Given the description of an element on the screen output the (x, y) to click on. 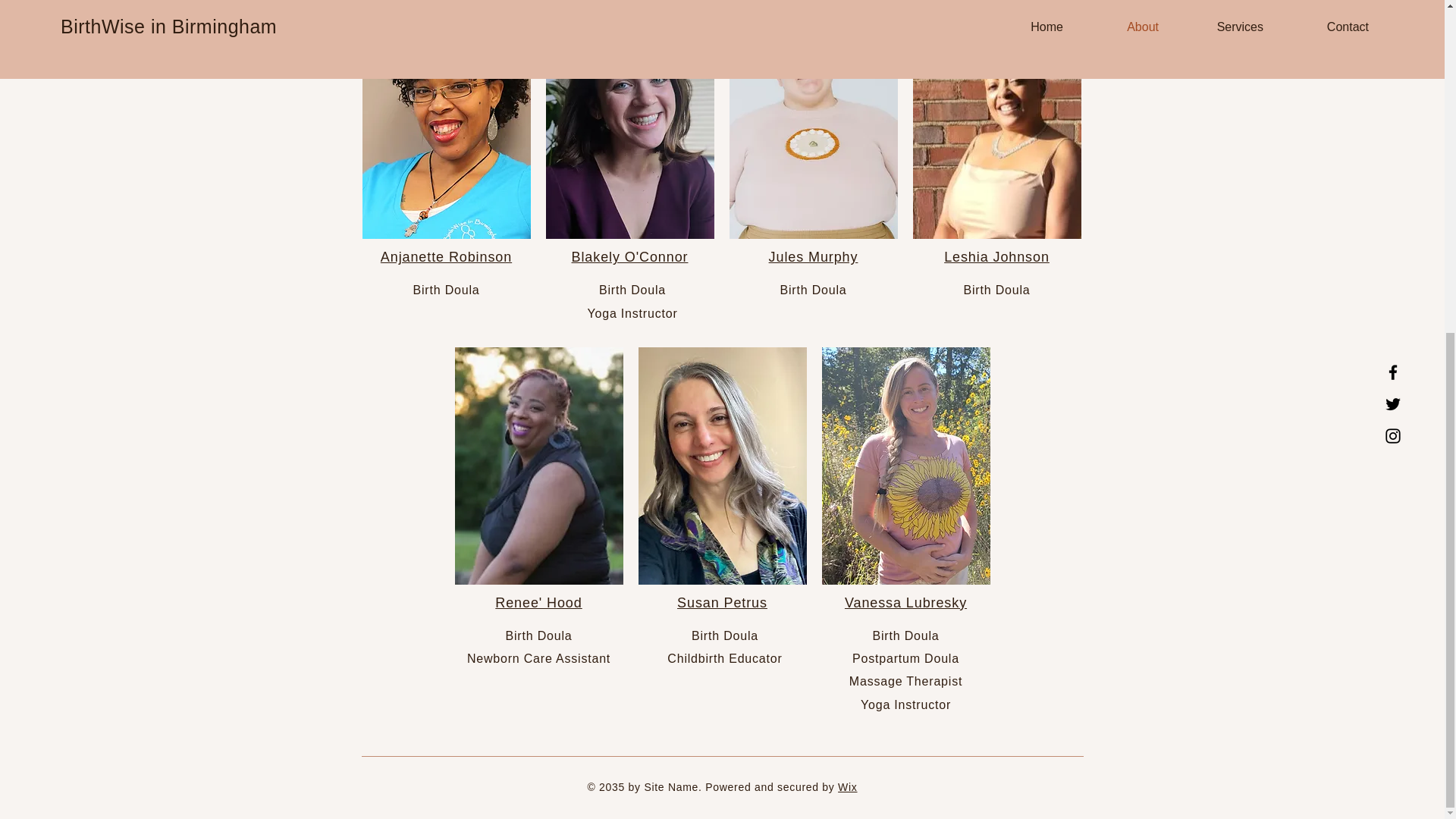
Wix (847, 787)
Leshia Johnson (996, 256)
Anjanette Robinson (446, 256)
Blakely O'Connor (630, 256)
Susan Petrus (722, 602)
Renee' Hood (537, 602)
Vanessa Lubresky (905, 602)
Jules Murphy (813, 256)
